Given the description of an element on the screen output the (x, y) to click on. 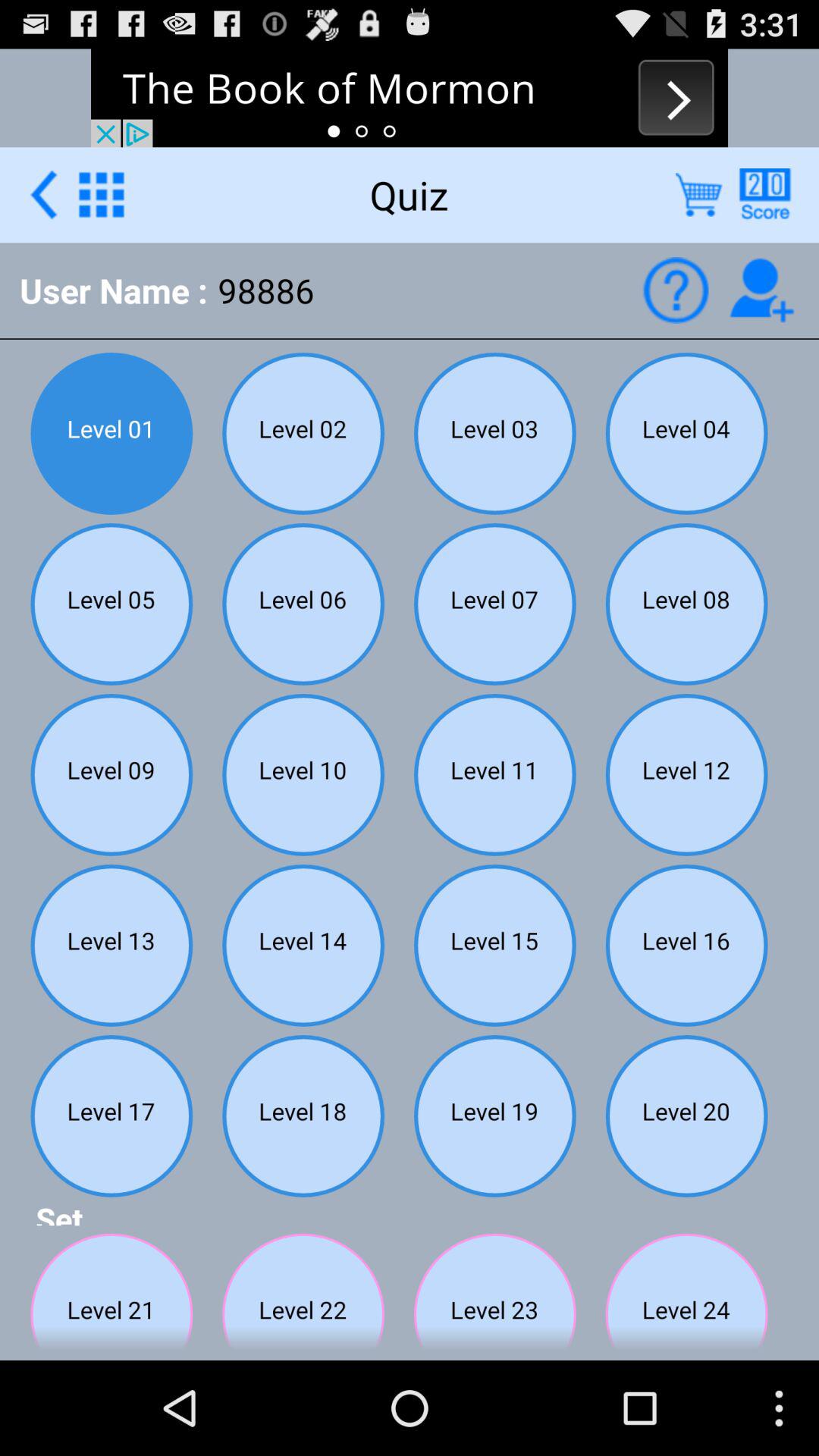
help (764, 194)
